Given the description of an element on the screen output the (x, y) to click on. 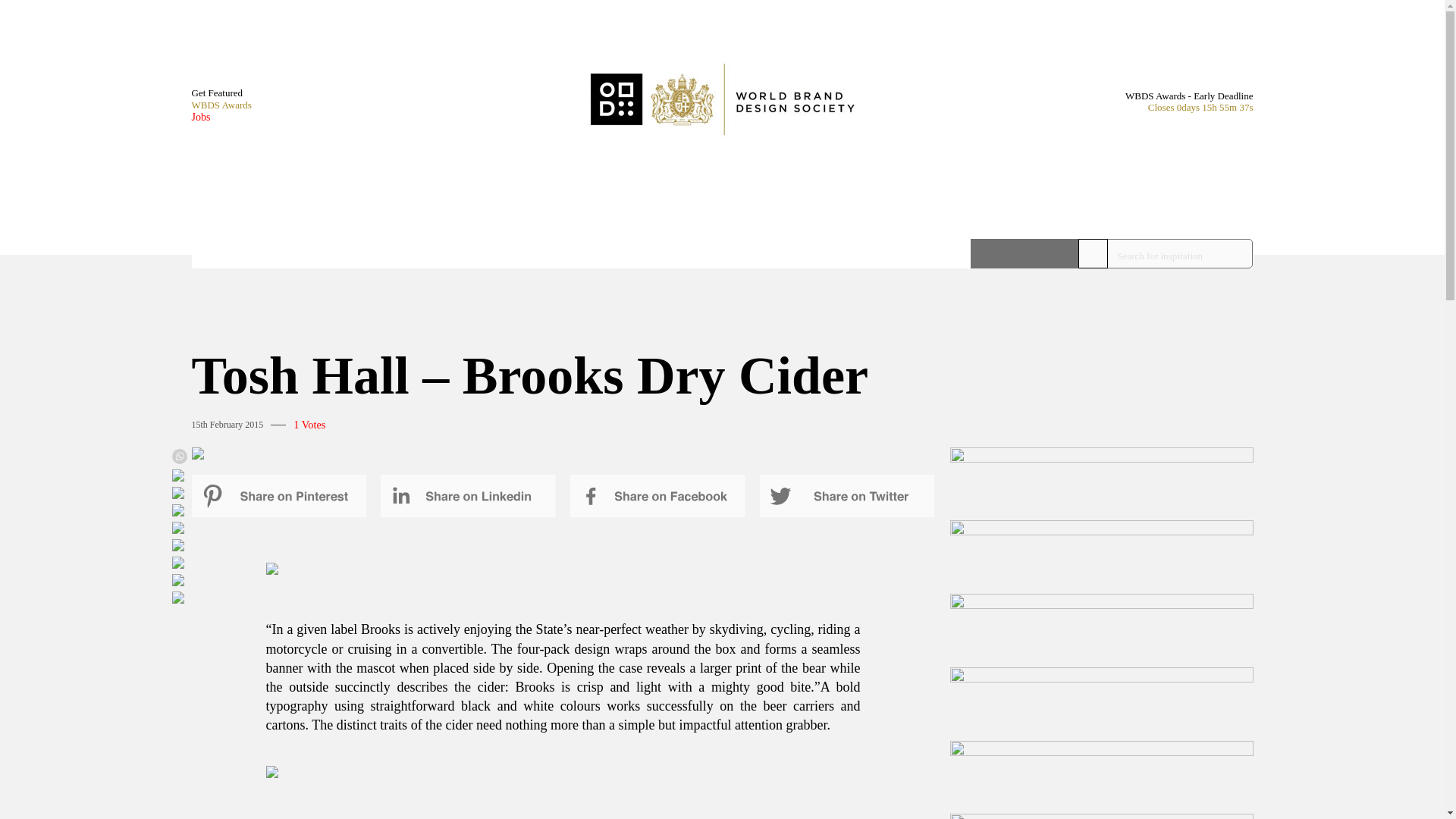
Search (1024, 253)
Search (1024, 253)
Jobs (220, 117)
WBDS Awards (220, 104)
Get Featured (220, 92)
